Given the description of an element on the screen output the (x, y) to click on. 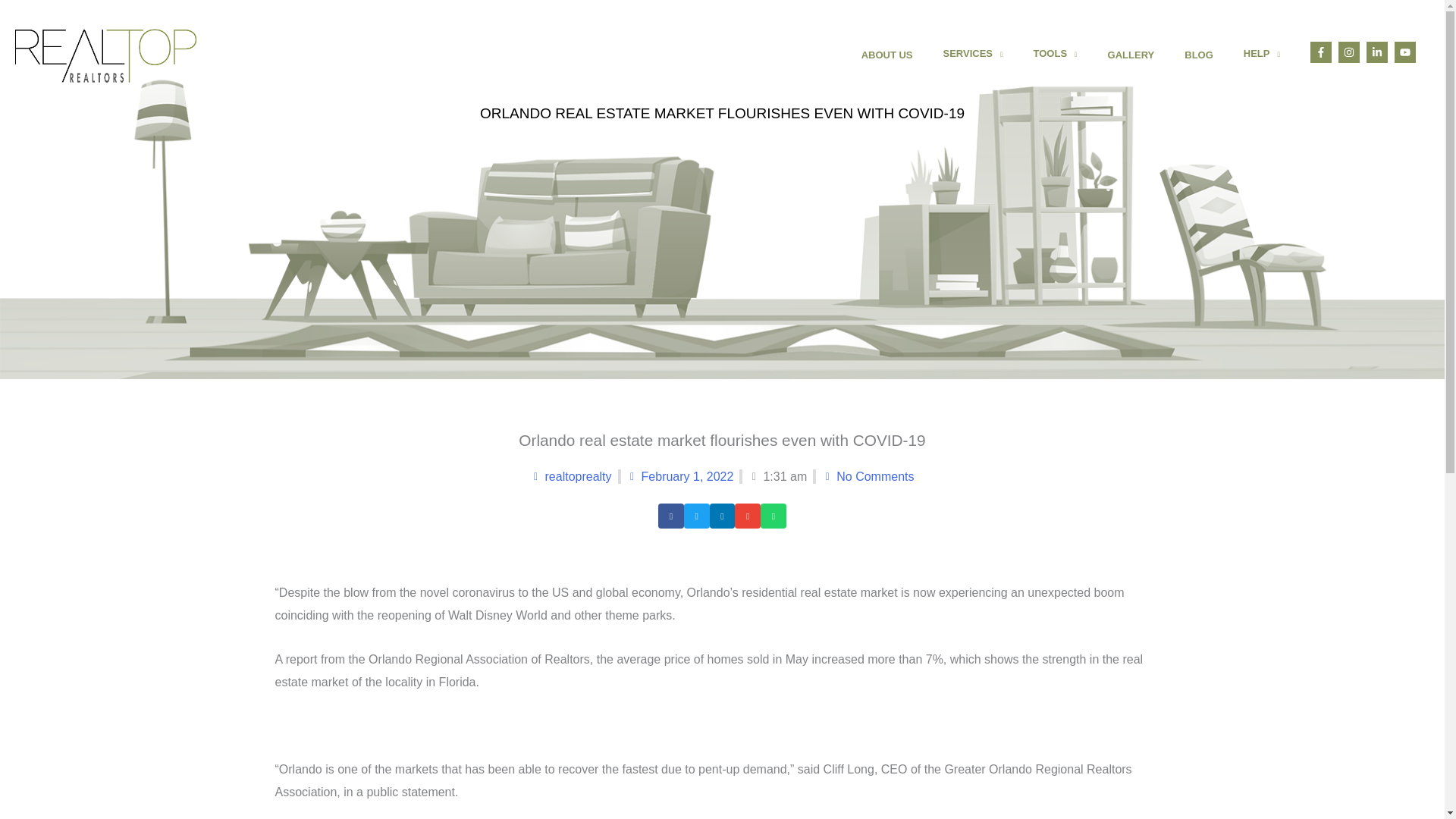
ABOUT US (886, 55)
BLOG (1198, 55)
TOOLS (1055, 54)
GALLERY (1131, 55)
SERVICES (972, 54)
HELP (1261, 54)
